Given the description of an element on the screen output the (x, y) to click on. 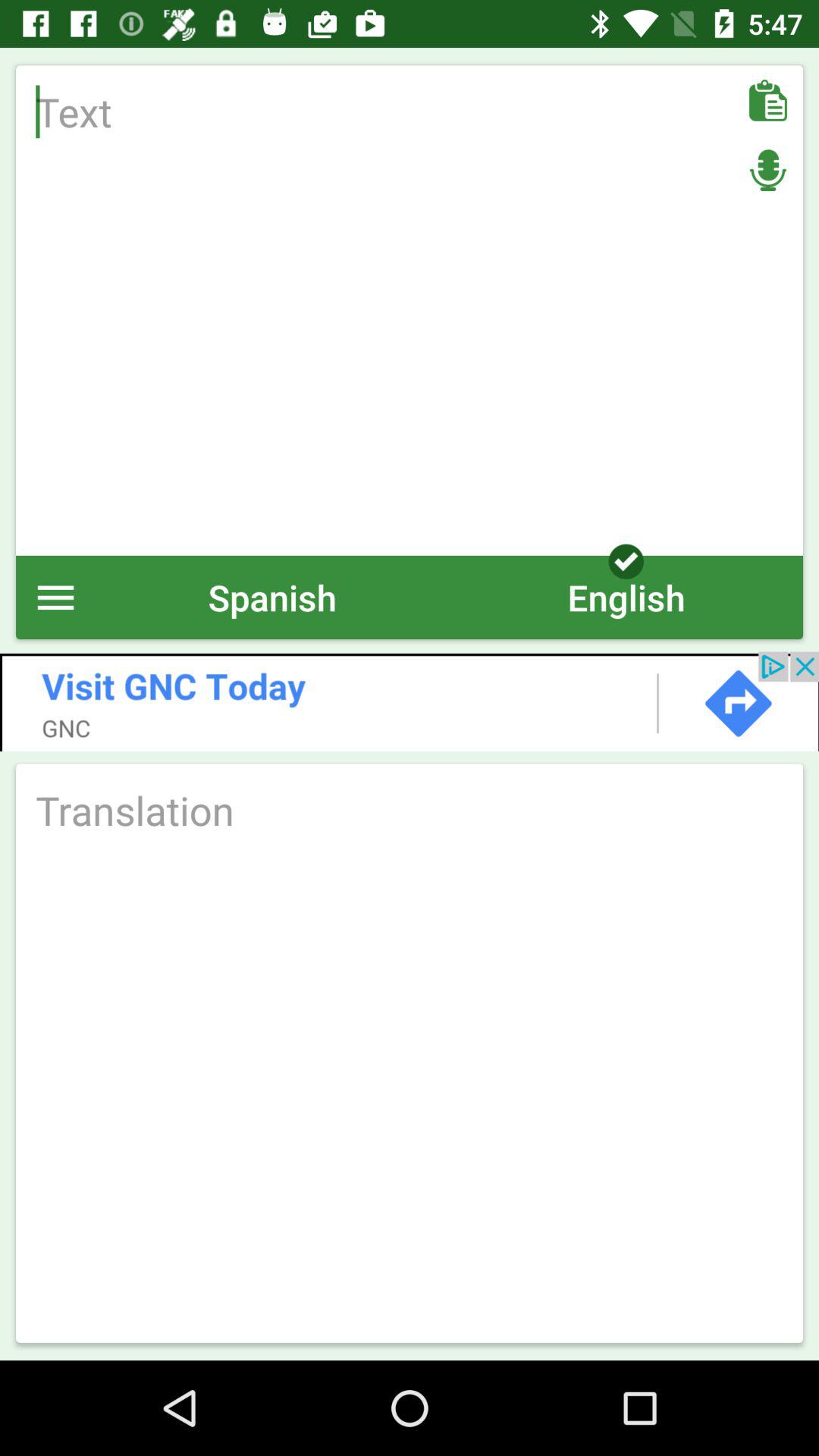
translate (409, 809)
